Given the description of an element on the screen output the (x, y) to click on. 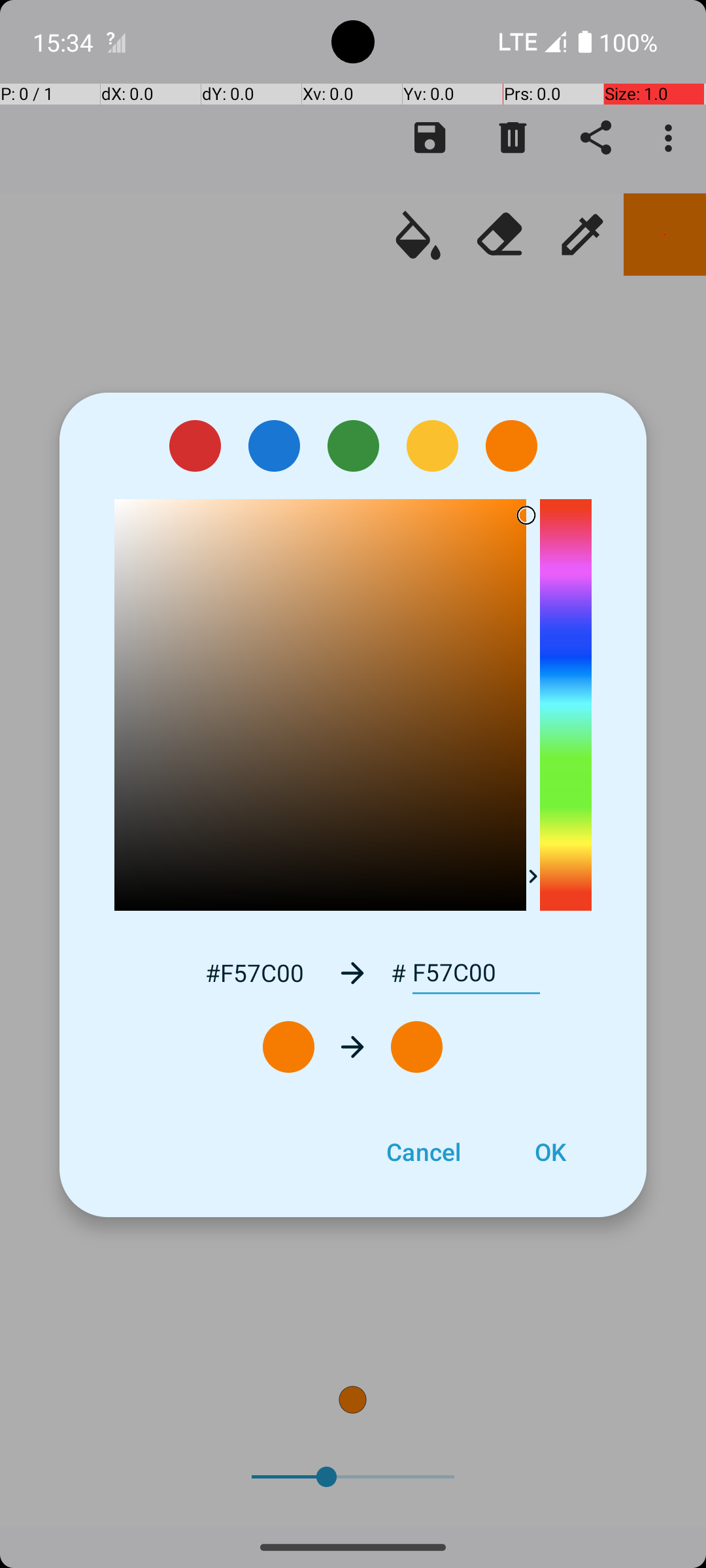
#F57C00 Element type: android.widget.TextView (254, 972)
F57C00 Element type: android.widget.EditText (475, 972)
